Given the description of an element on the screen output the (x, y) to click on. 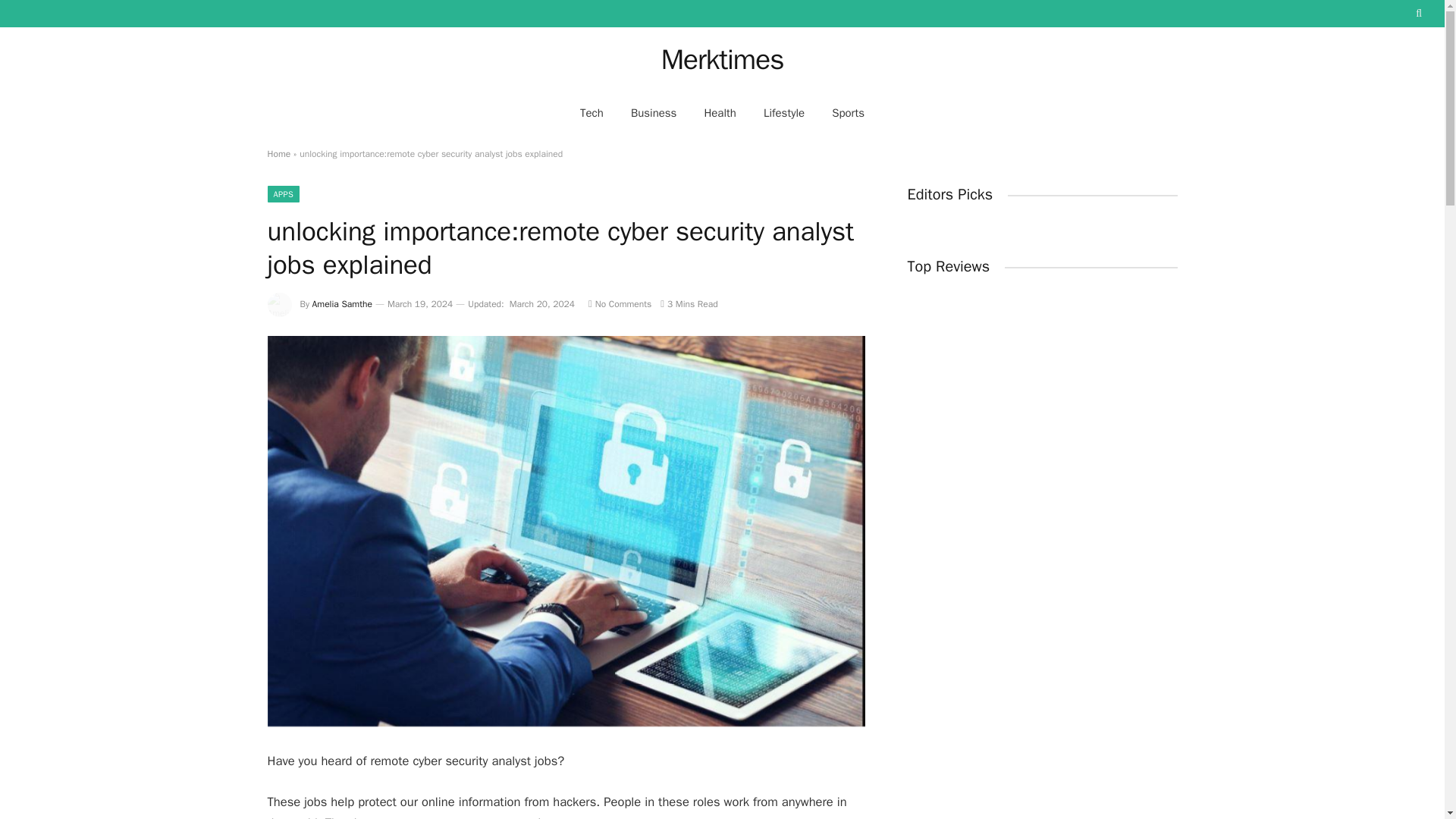
Health (719, 112)
Home (277, 153)
Amelia Samthe (342, 304)
Business (653, 112)
merktimes (722, 59)
No Comments (619, 304)
Merktimes (722, 59)
Sports (847, 112)
Tech (591, 112)
Lifestyle (783, 112)
Posts by Amelia Samthe (342, 304)
APPS (282, 193)
